Given the description of an element on the screen output the (x, y) to click on. 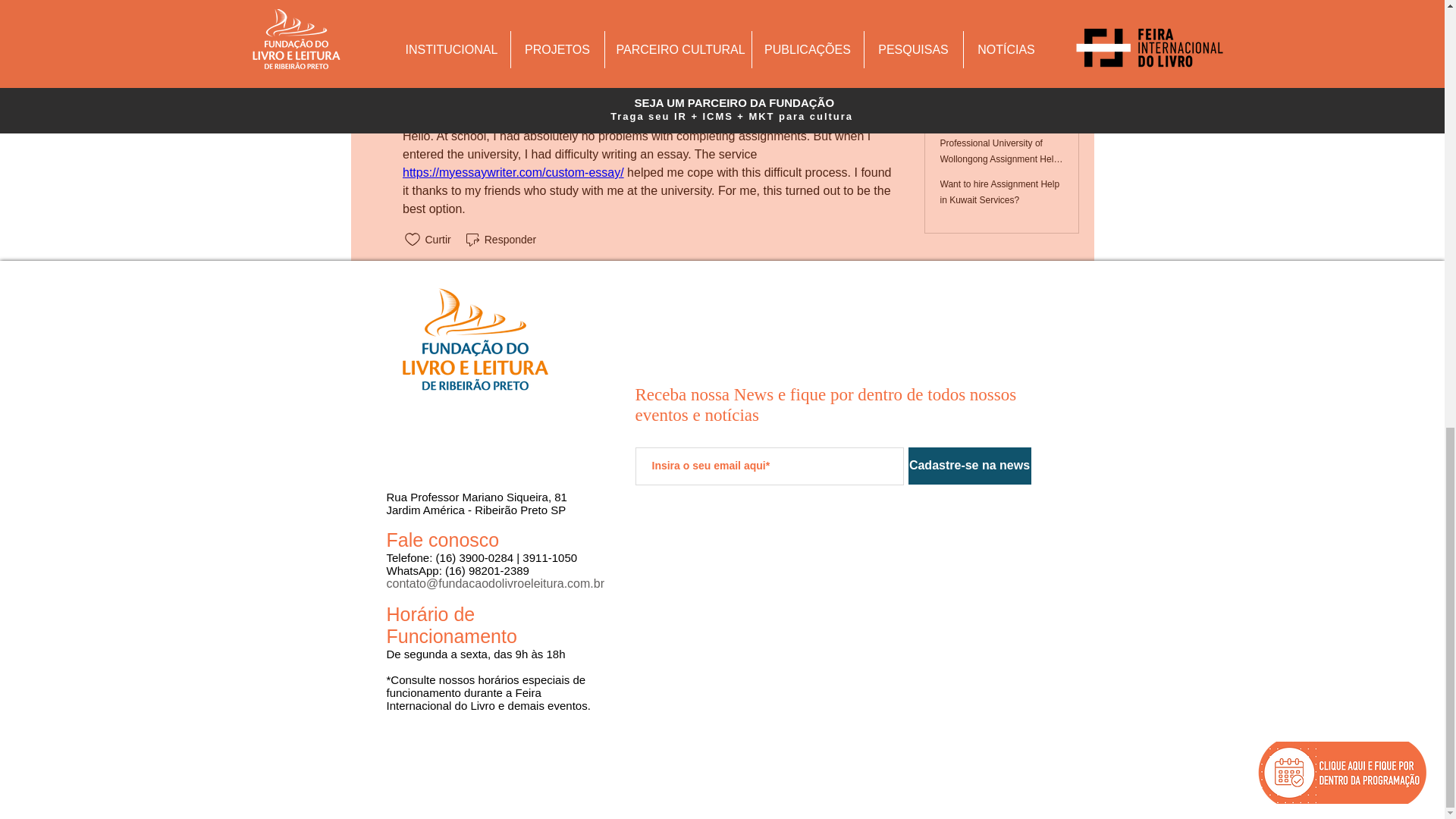
cavon61695 (430, 93)
Responder (500, 53)
Responder (500, 239)
Case Study Help Services (644, 6)
